Given the description of an element on the screen output the (x, y) to click on. 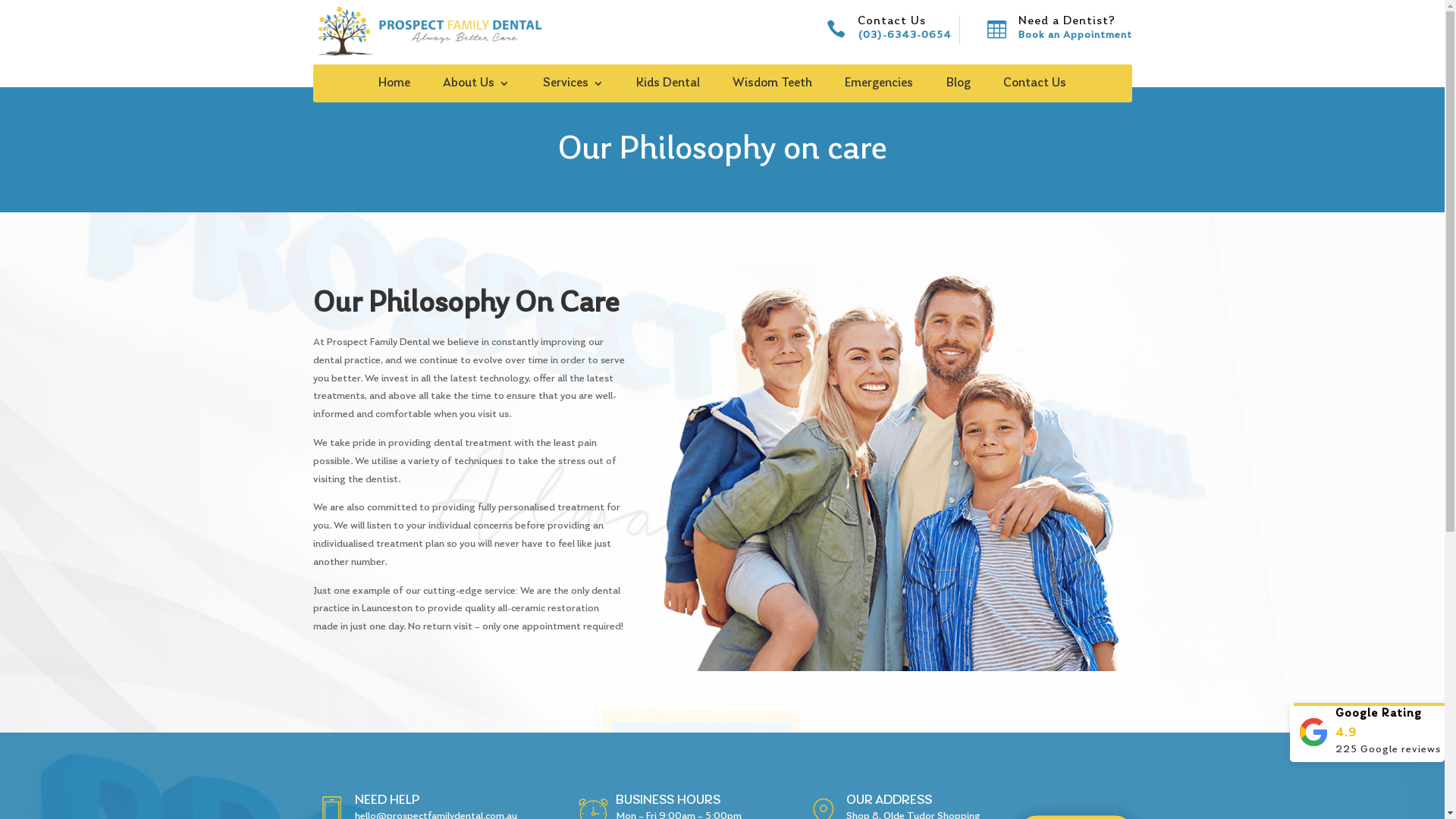
Wisdom Teeth Element type: text (772, 86)
Blog Element type: text (958, 86)
About Us Element type: text (475, 86)
Emergencies Element type: text (878, 86)
225 Google reviews Element type: text (1366, 732)
Home Element type: text (394, 86)
Contact Us Element type: text (1034, 86)
Services Element type: text (572, 86)
famil-propspect-banner-ledt-img Element type: hover (890, 472)
logo Element type: hover (427, 29)
Kids Dental Element type: text (667, 86)
